Given the description of an element on the screen output the (x, y) to click on. 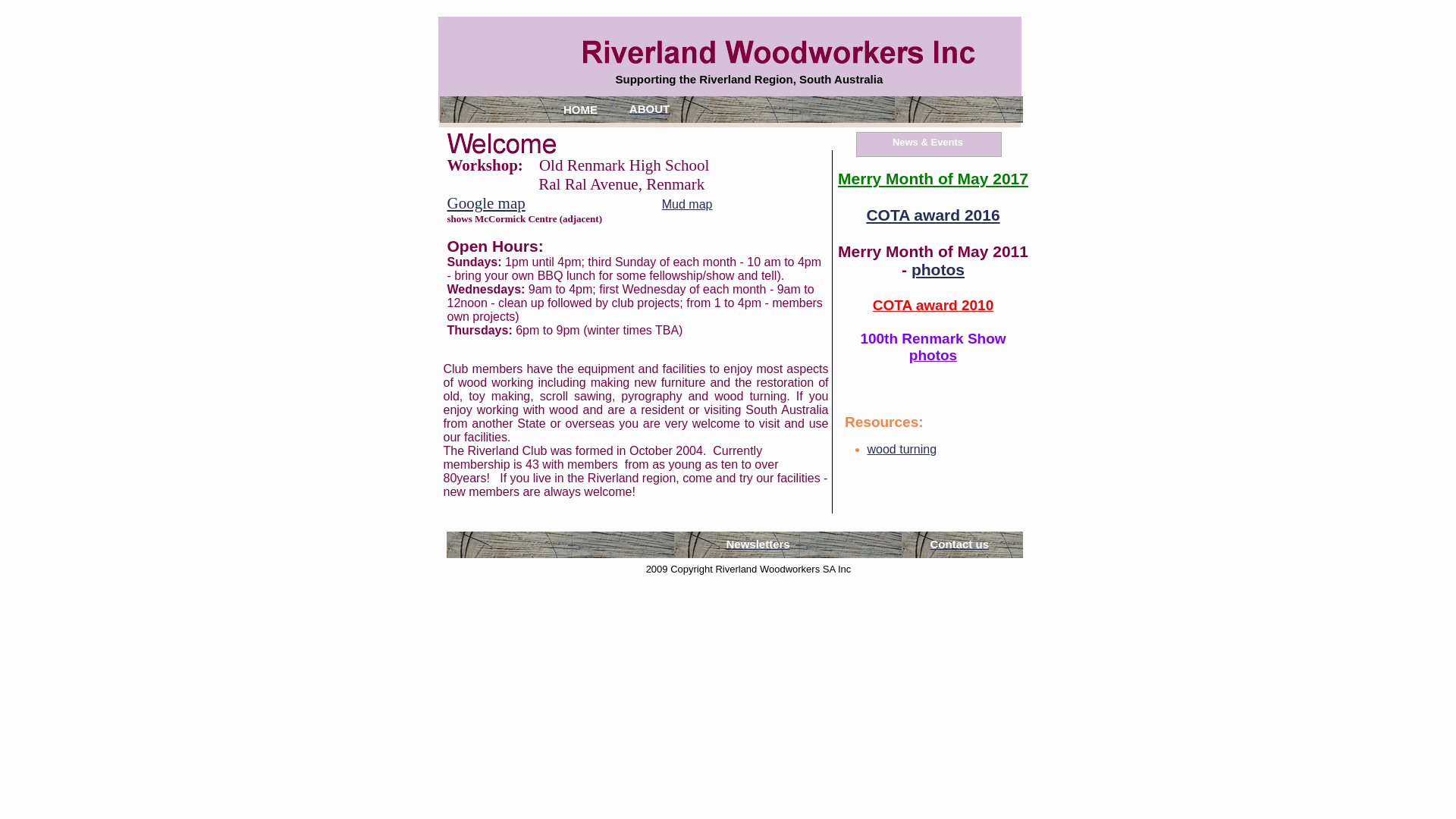
Newsletters Element type: text (758, 544)
ABOUT Element type: text (649, 108)
wood turning Element type: text (902, 448)
COTA award 2010 Element type: text (932, 305)
HOME Element type: text (579, 109)
Contact us Element type: text (958, 544)
Mud map Element type: text (687, 203)
Google map Element type: text (486, 203)
COTA award 2016 Element type: text (932, 214)
photos Element type: text (937, 269)
photos Element type: text (933, 355)
Merry Month of May 2017 Element type: text (932, 178)
